Given the description of an element on the screen output the (x, y) to click on. 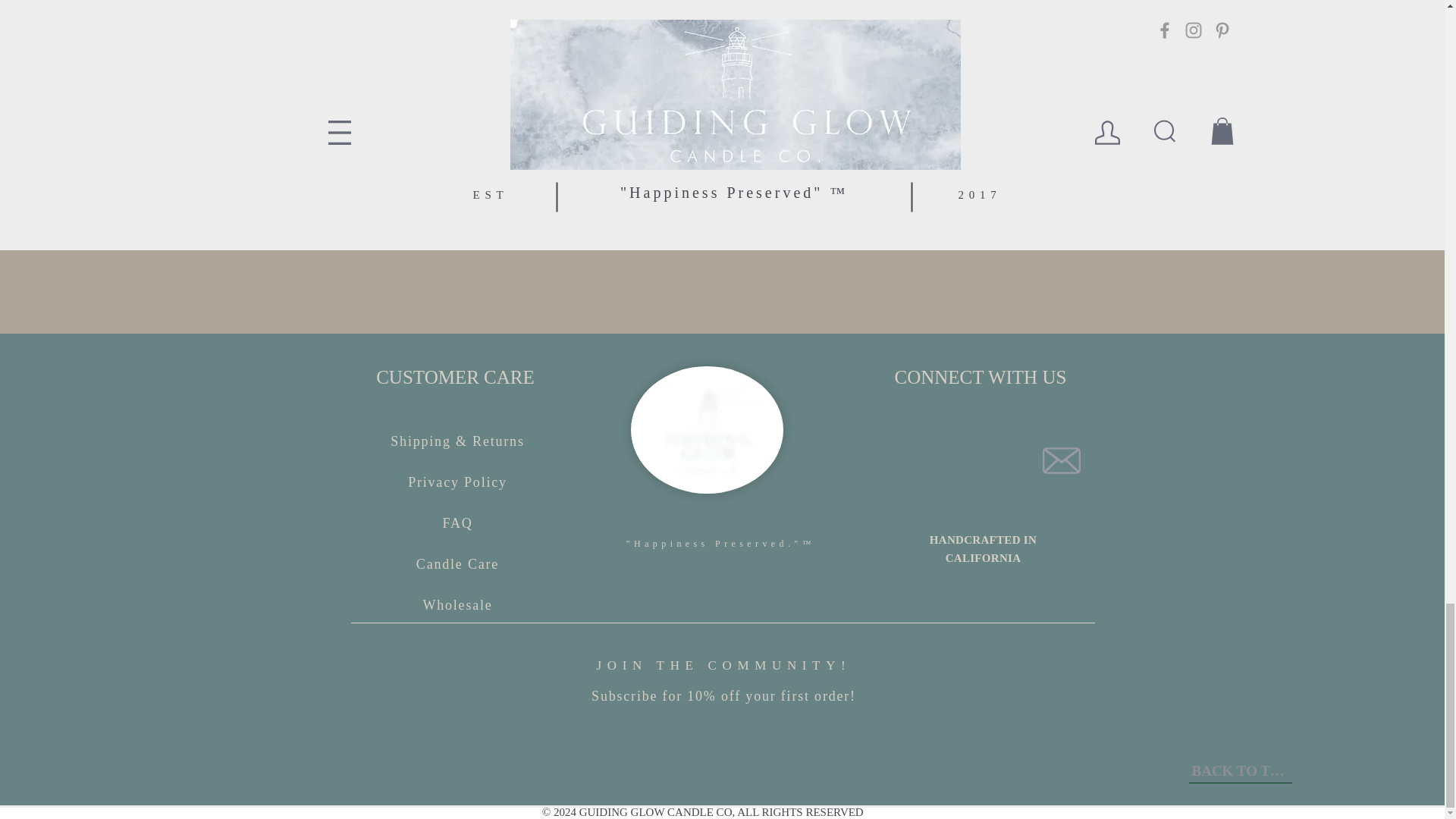
BACK TO TOP (1240, 771)
Candle Care (457, 563)
FAQ (456, 522)
Privacy Policy (456, 481)
Wholesale (457, 604)
